Given the description of an element on the screen output the (x, y) to click on. 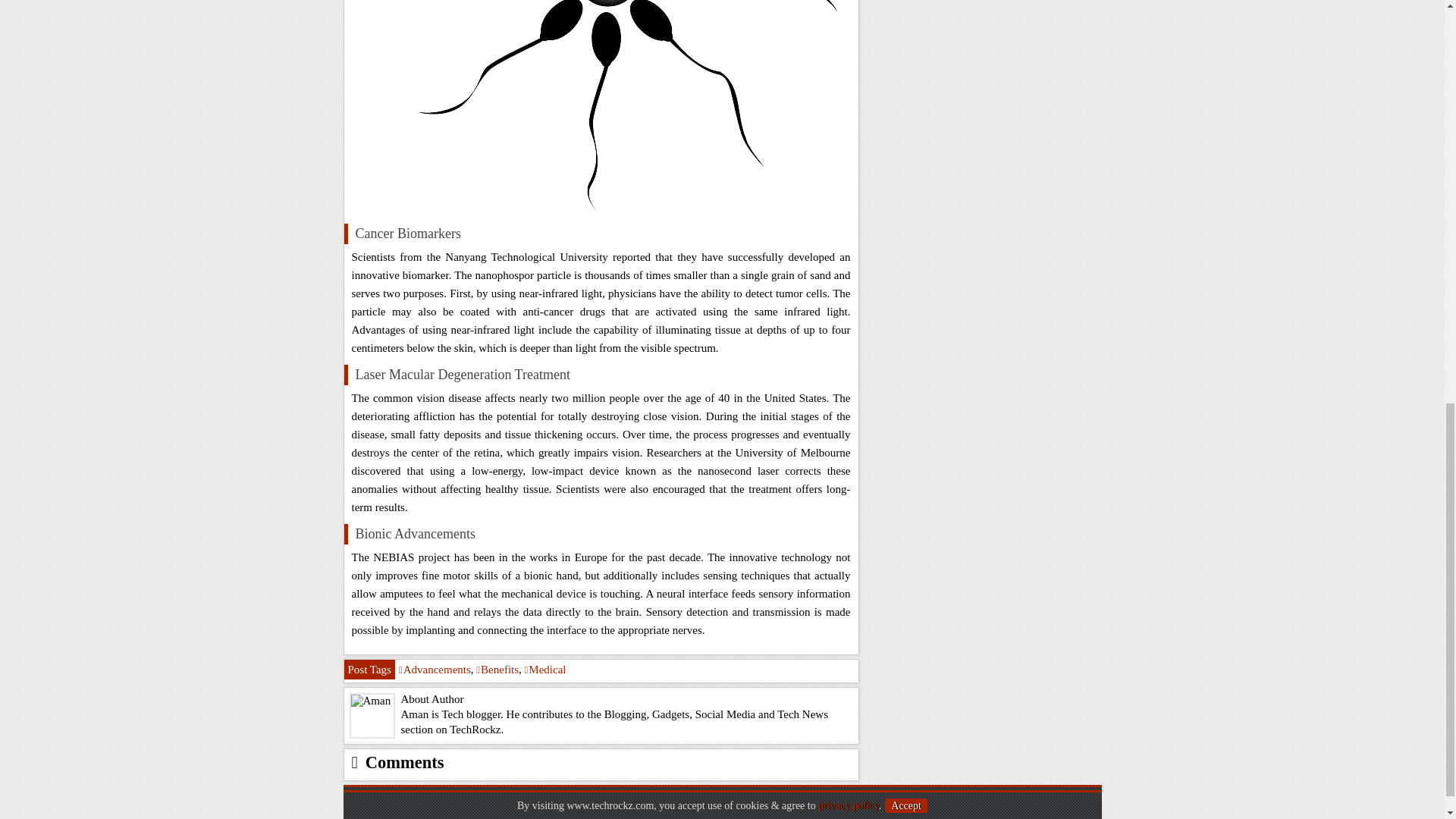
Privacy Policy (560, 799)
Benefits (497, 669)
Disclaimer (622, 799)
Advancements (434, 669)
Contact (504, 799)
Medical (545, 669)
